Given the description of an element on the screen output the (x, y) to click on. 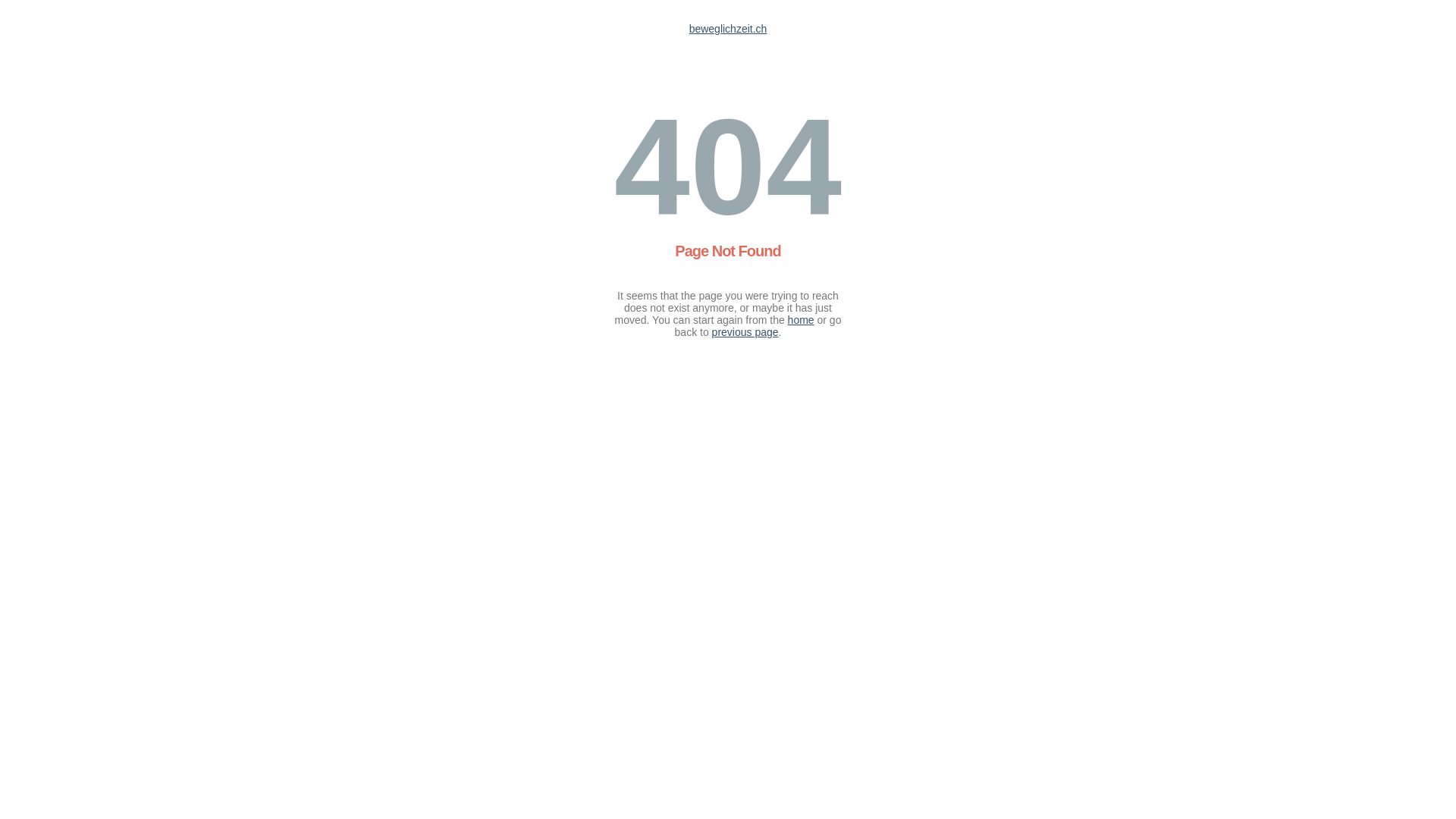
beweglichzeit.ch Element type: text (728, 28)
previous page Element type: text (745, 332)
home Element type: text (800, 319)
